Given the description of an element on the screen output the (x, y) to click on. 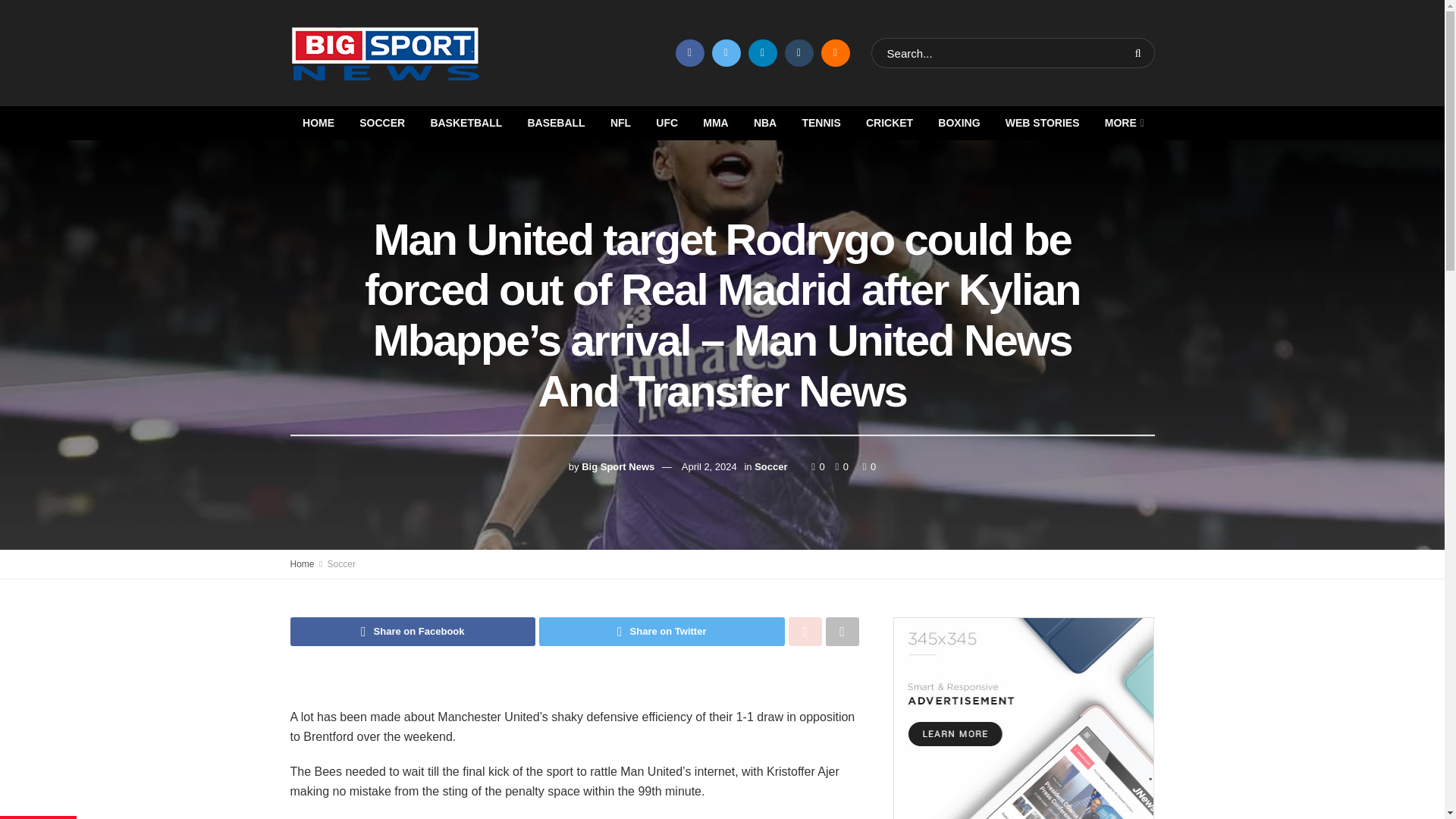
BASKETBALL (466, 123)
BASEBALL (555, 123)
UFC (666, 123)
NFL (619, 123)
SOCCER (382, 123)
TENNIS (821, 123)
NBA (765, 123)
CRICKET (888, 123)
MMA (715, 123)
WEB STORIES (1042, 123)
HOME (317, 123)
BOXING (959, 123)
MORE (1123, 123)
